Given the description of an element on the screen output the (x, y) to click on. 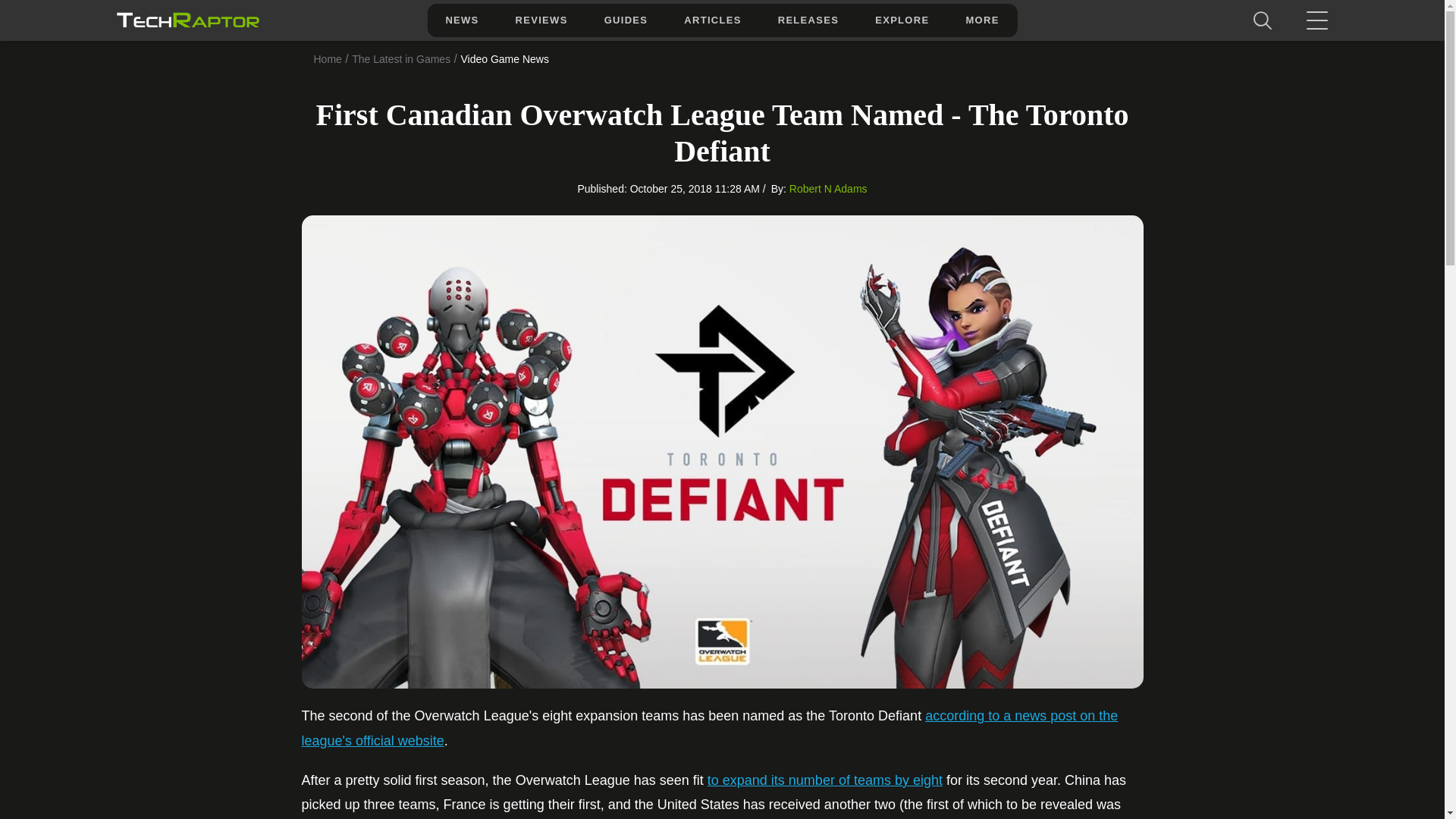
ARTICLES (711, 20)
GUIDES (626, 20)
TechRaptor Home (187, 20)
REVIEWS (541, 20)
RELEASES (807, 20)
NEWS (461, 20)
